Given the description of an element on the screen output the (x, y) to click on. 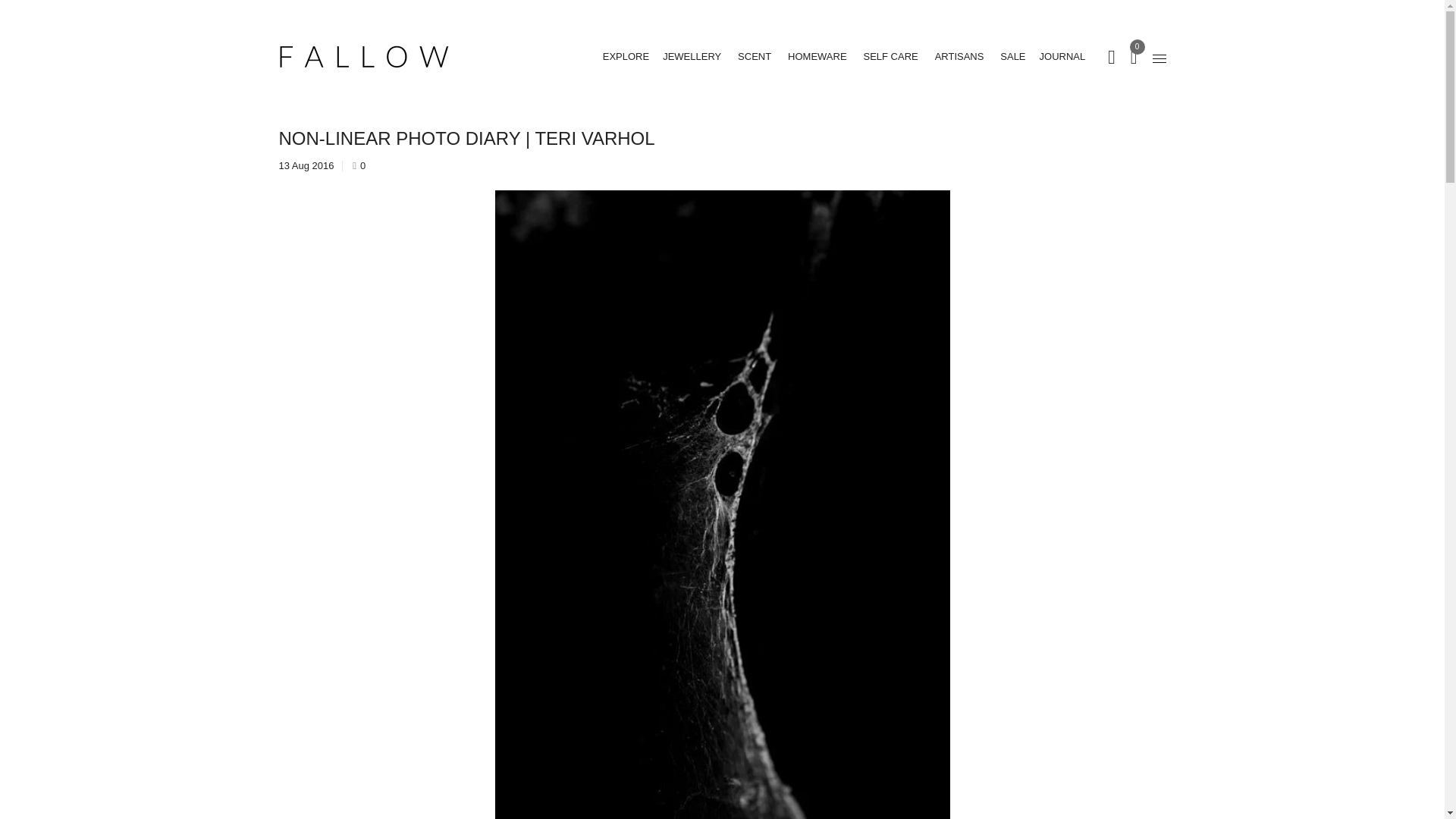
SELF CARE (890, 55)
JEWELLERY (691, 55)
SCENT (754, 55)
EXPLORE (625, 55)
ARTISANS (959, 55)
HOMEWARE (817, 55)
